Given the description of an element on the screen output the (x, y) to click on. 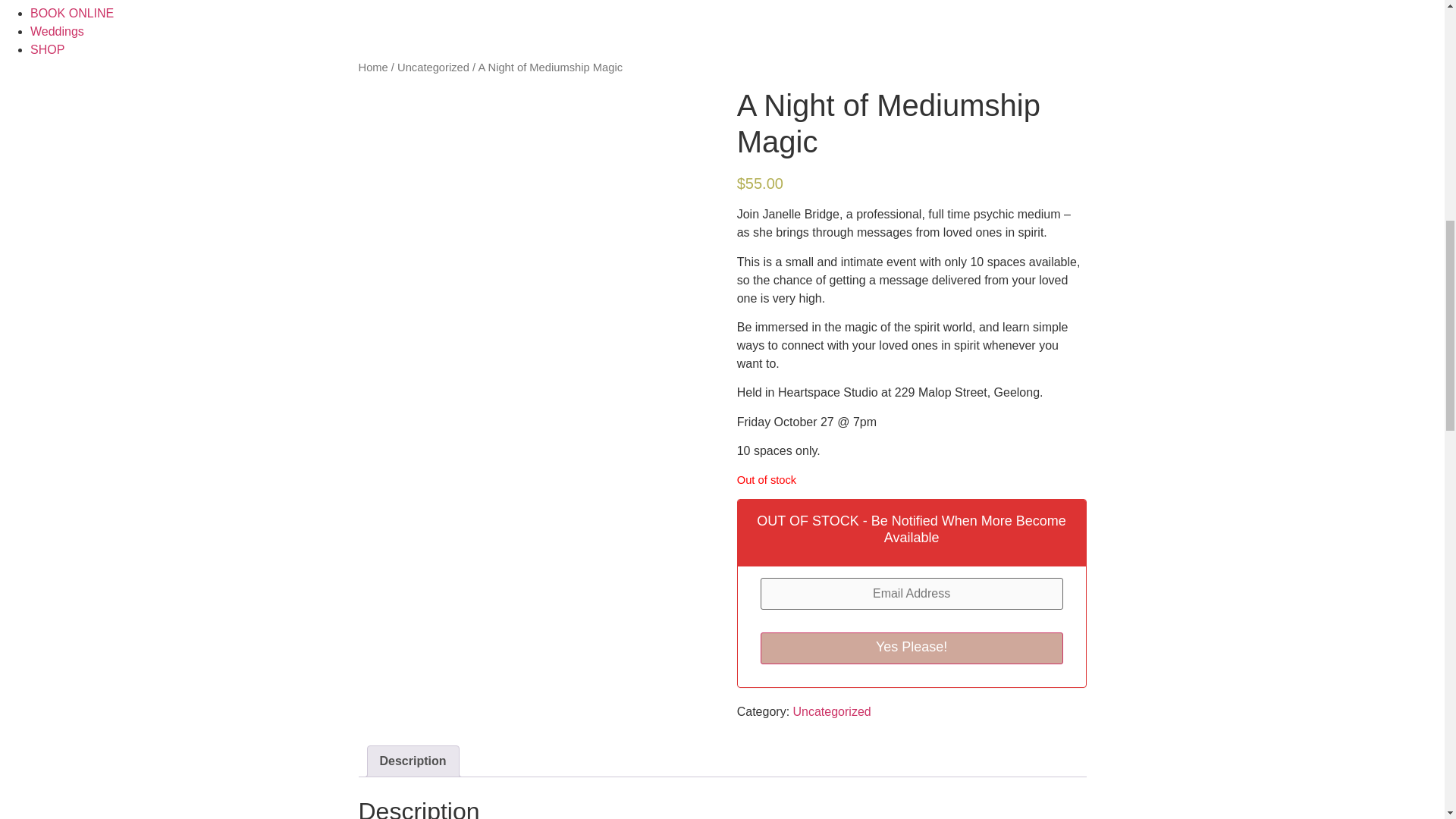
Uncategorized (831, 711)
FREEBIES (60, 0)
BOOK ONLINE (71, 12)
Weddings (57, 31)
Yes Please! (911, 648)
Yes Please! (911, 648)
Home (372, 67)
SHOP (47, 49)
Uncategorized (432, 67)
